Given the description of an element on the screen output the (x, y) to click on. 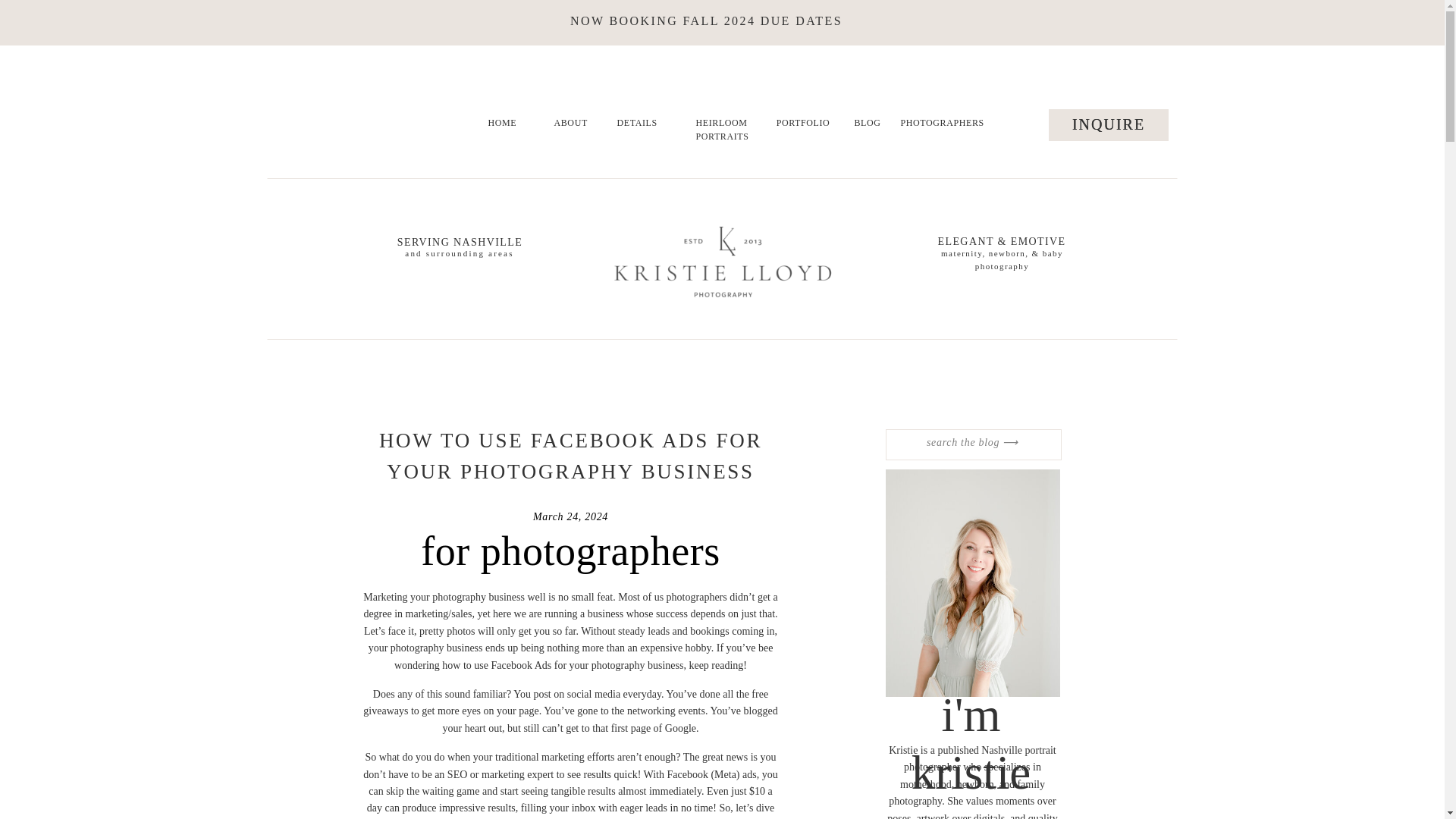
Facebook Ads (521, 665)
HEIRLOOM PORTRAITS (712, 131)
DETAILS (634, 131)
NOW BOOKING FALL 2024 DUE DATES (706, 22)
PORTFOLIO (801, 132)
Nashville portrait photographer (980, 758)
newborn (975, 784)
PHOTOGRAPHERS (939, 141)
INQUIRE (1107, 125)
